Given the description of an element on the screen output the (x, y) to click on. 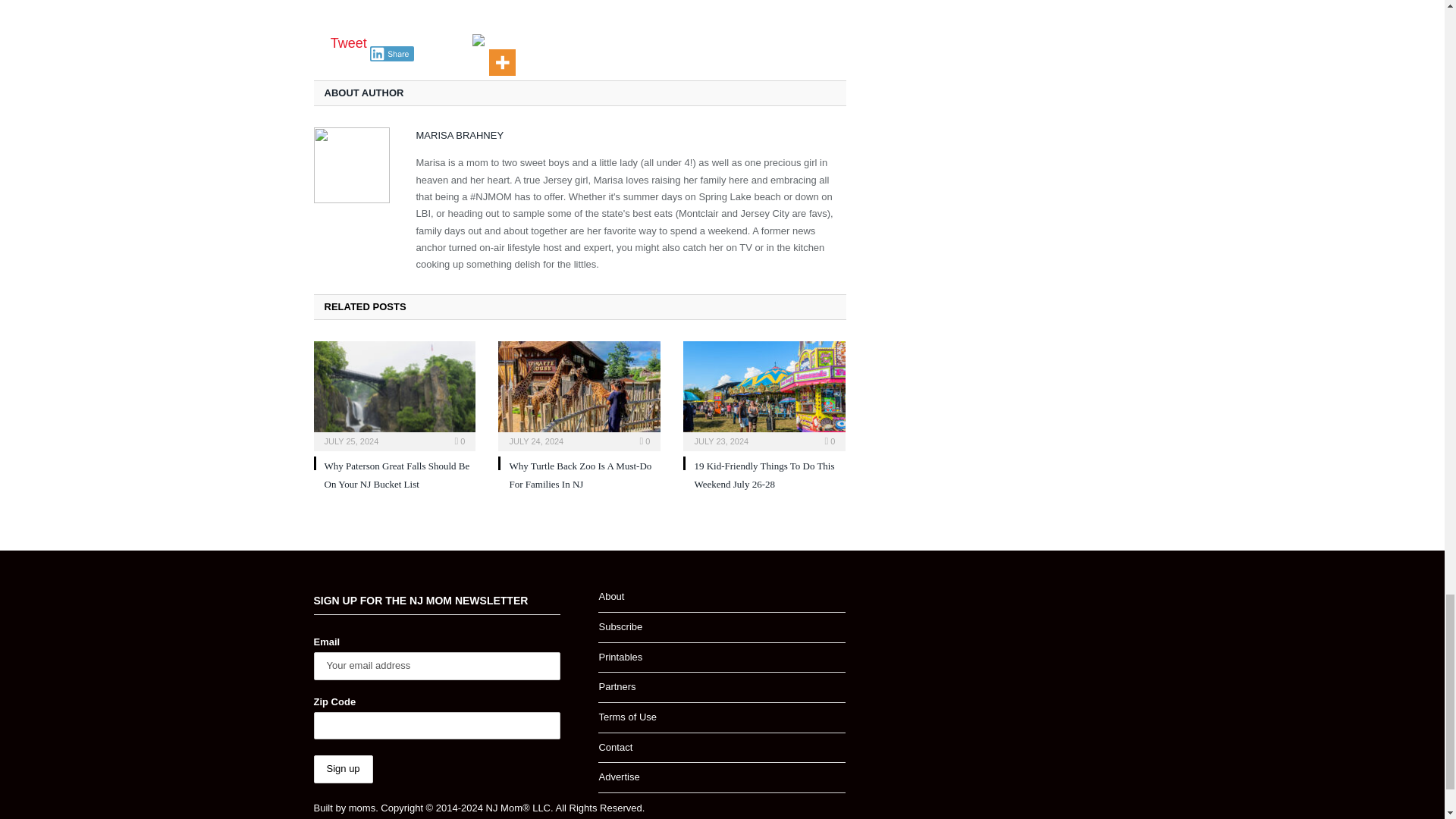
Why Turtle Back Zoo Is A Must-Do For Families In NJ (579, 474)
Why Turtle Back Zoo Is A Must-Do For Families In NJ (579, 394)
More (502, 53)
19 Kid-Friendly Things To Do This Weekend July 26-28 (763, 394)
Why Paterson Great Falls Should Be On Your NJ Bucket List (395, 394)
Sign up (343, 768)
Why Paterson Great Falls Should Be On Your NJ Bucket List (397, 474)
Posts by Marisa Brahney (458, 134)
